Given the description of an element on the screen output the (x, y) to click on. 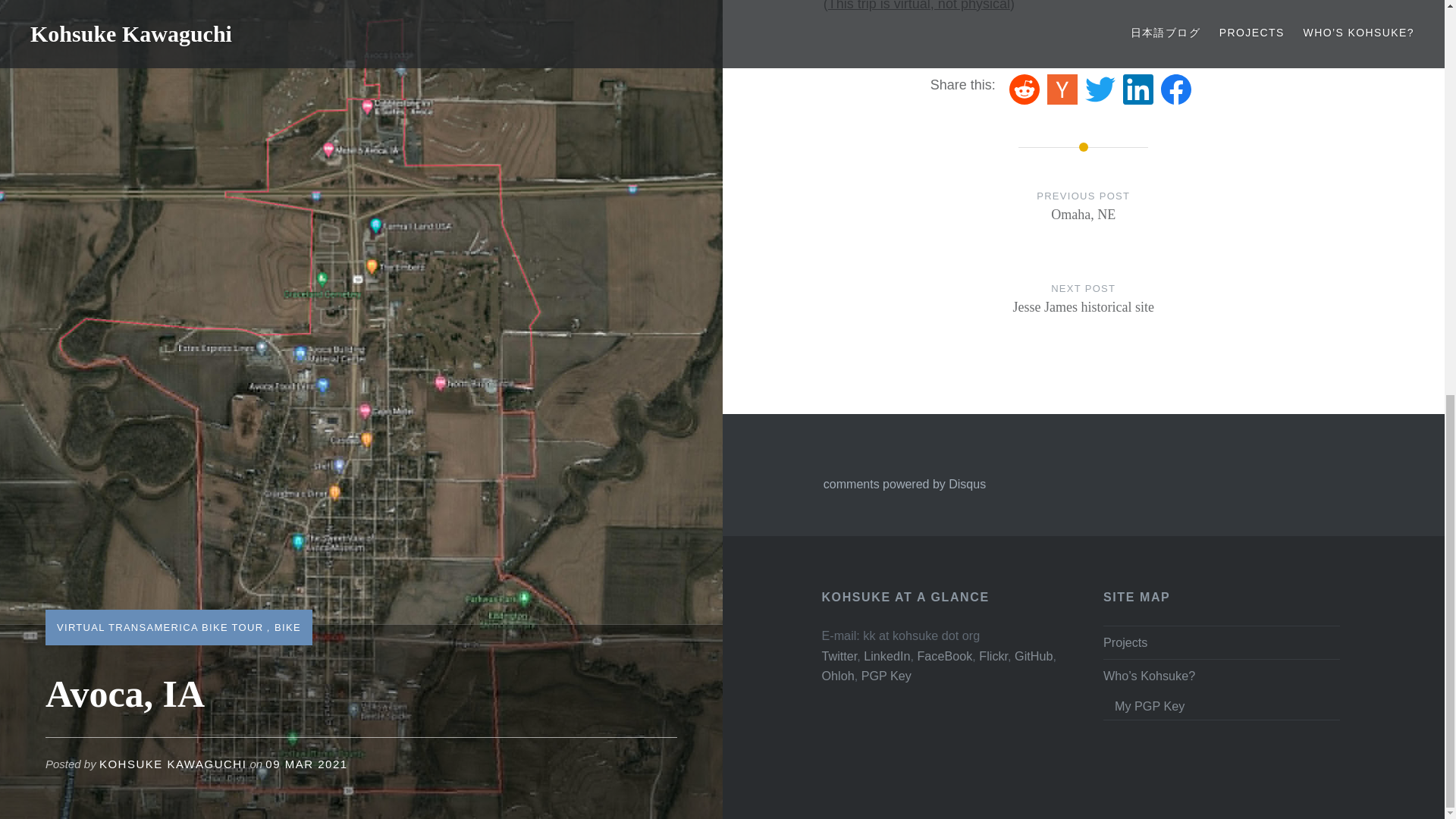
LinkedIn (886, 655)
PGP Key (886, 675)
Flickr (992, 655)
This trip is virtual, not physical (1083, 312)
09 MAR 2021 (919, 5)
Twitter (305, 3)
KOHSUKE KAWAGUCHI (839, 655)
My PGP Key (172, 3)
GitHub (1227, 705)
